Given the description of an element on the screen output the (x, y) to click on. 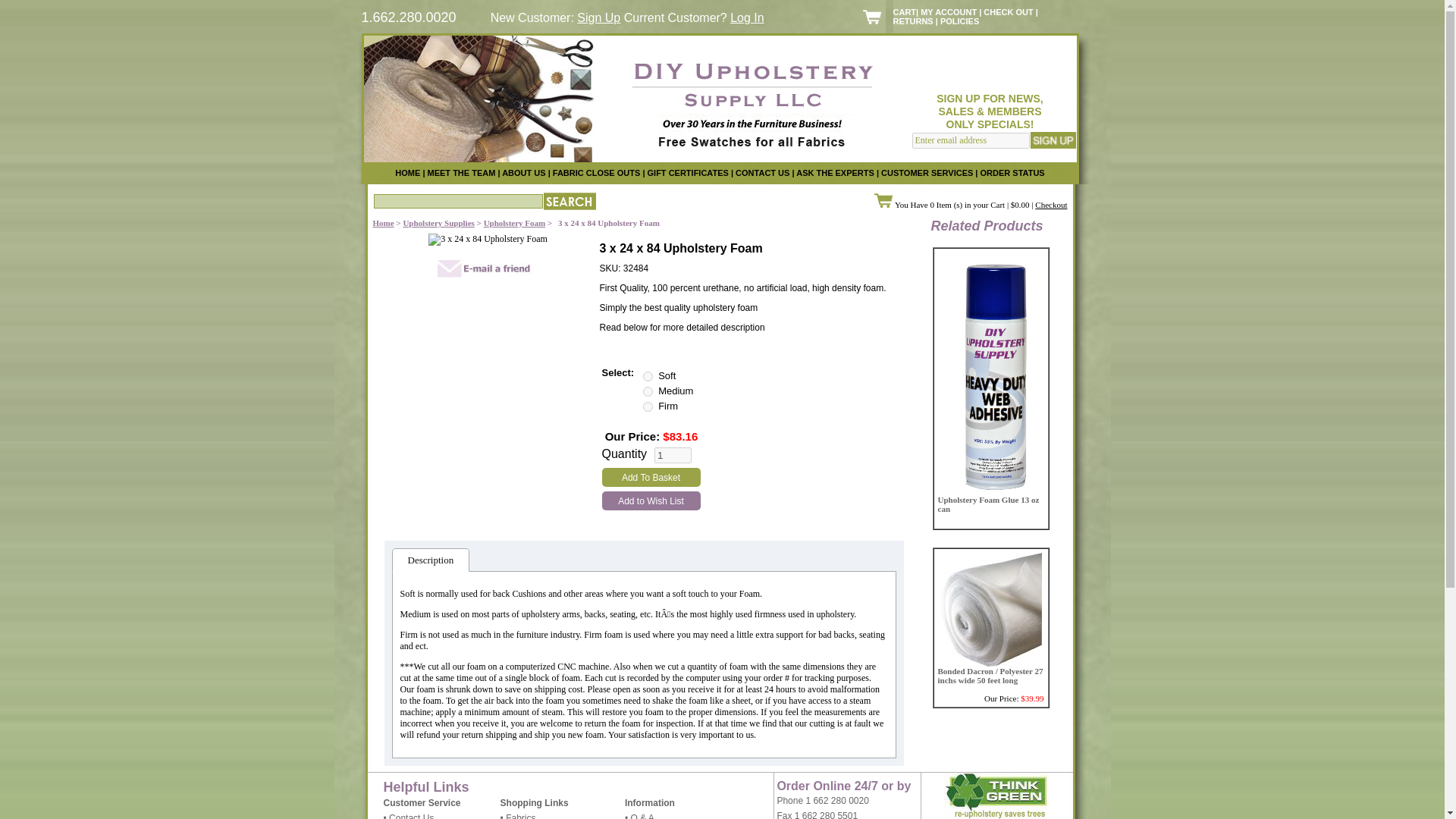
Upholstery Supplies (438, 222)
Sign Up (598, 17)
Add To Basket (651, 476)
POLICIES (959, 20)
Home (383, 222)
Upholstery Foam (514, 222)
CONTACT US (762, 172)
Enter email address (970, 139)
Upholstery Foam Glue 13 oz can (988, 504)
Contact Us (410, 816)
MEET THE TEAM (462, 172)
Medium (647, 391)
Log In (746, 17)
Firm (647, 406)
MY ACCOUNT (948, 11)
